Given the description of an element on the screen output the (x, y) to click on. 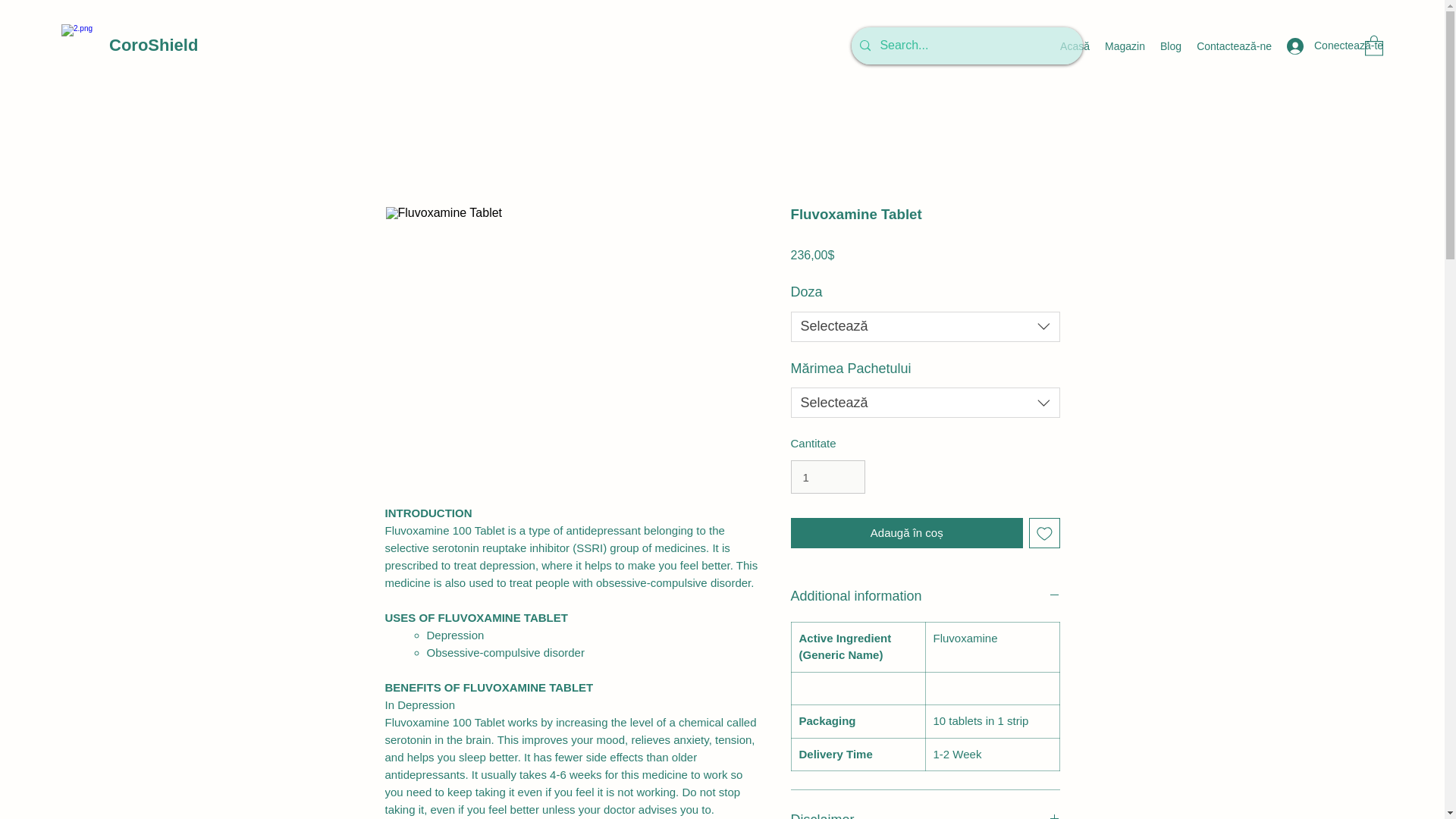
Disclaimer (924, 813)
1 (827, 476)
Magazin (1125, 46)
CoroShield (153, 45)
Blog (1171, 46)
Additional information (924, 596)
